Given the description of an element on the screen output the (x, y) to click on. 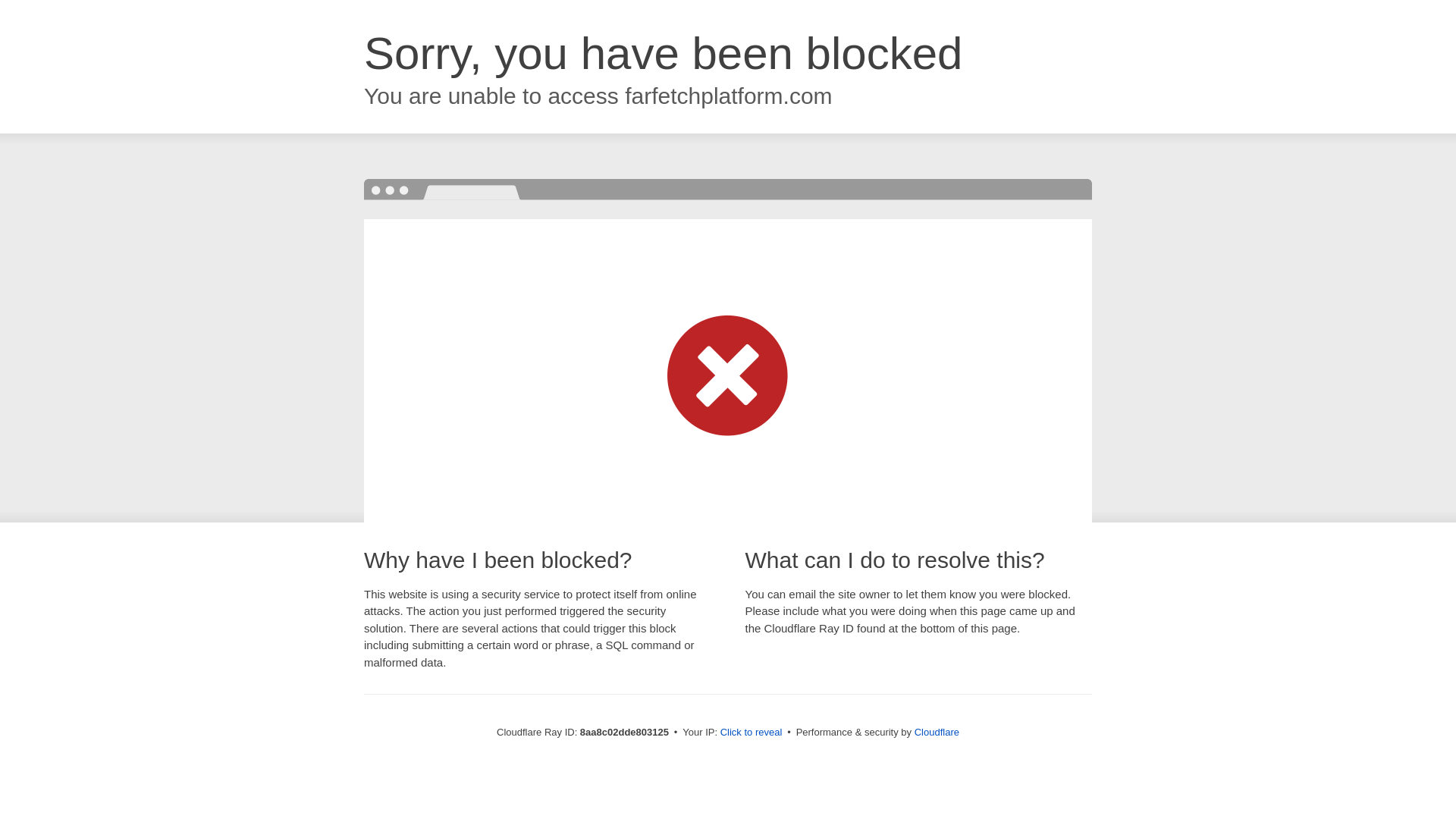
Click to reveal (751, 732)
Cloudflare (936, 731)
